Given the description of an element on the screen output the (x, y) to click on. 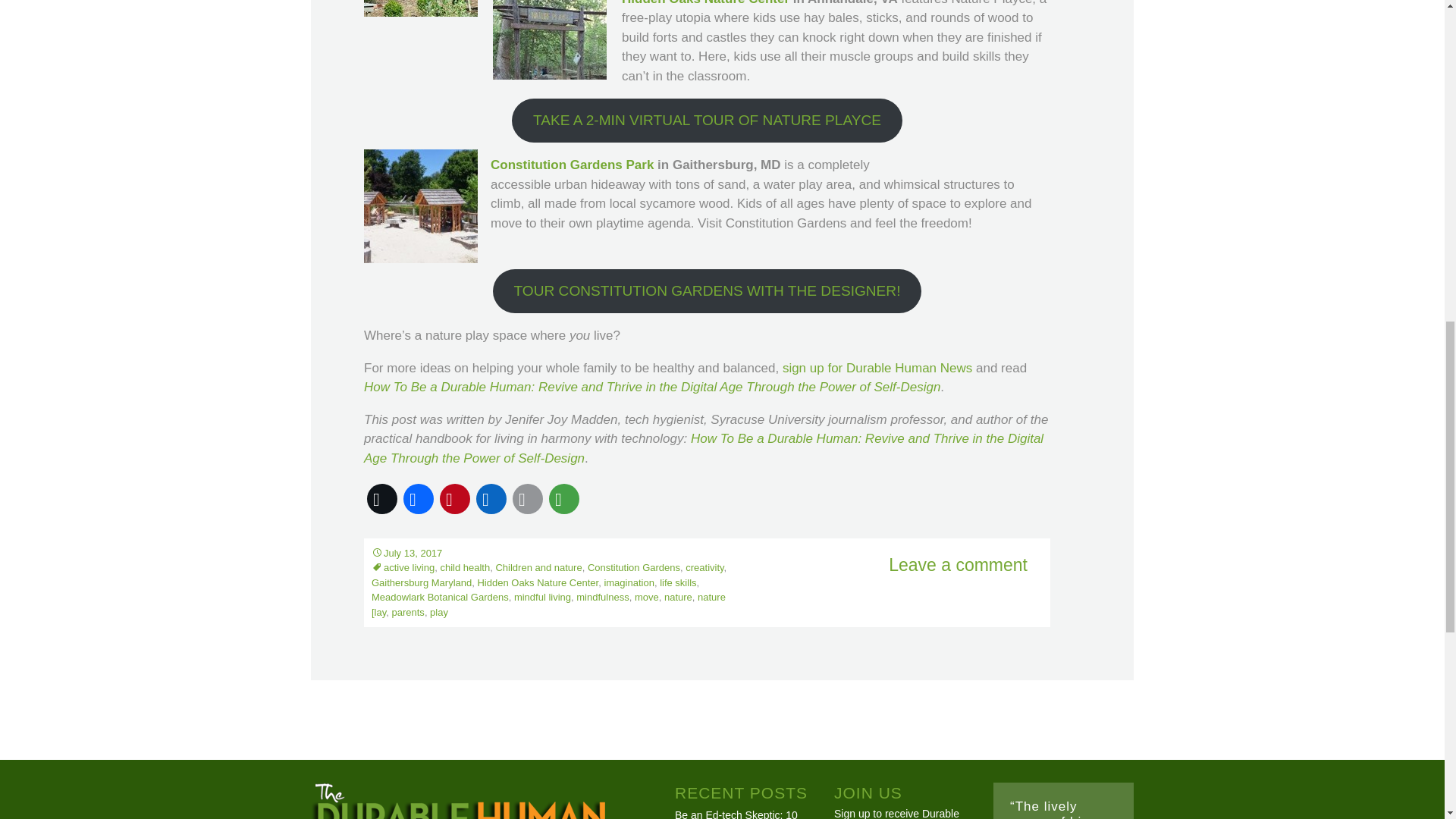
LinkedIn (491, 498)
Email This (527, 498)
More Options (564, 498)
Pinterest (454, 498)
TAKE A 2-MIN VIRTUAL TOUR OF NATURE PLAYCE (706, 120)
Constitution Gardens Park (571, 164)
Facebook (418, 498)
Hidden Oaks Nature Center (705, 2)
